Given the description of an element on the screen output the (x, y) to click on. 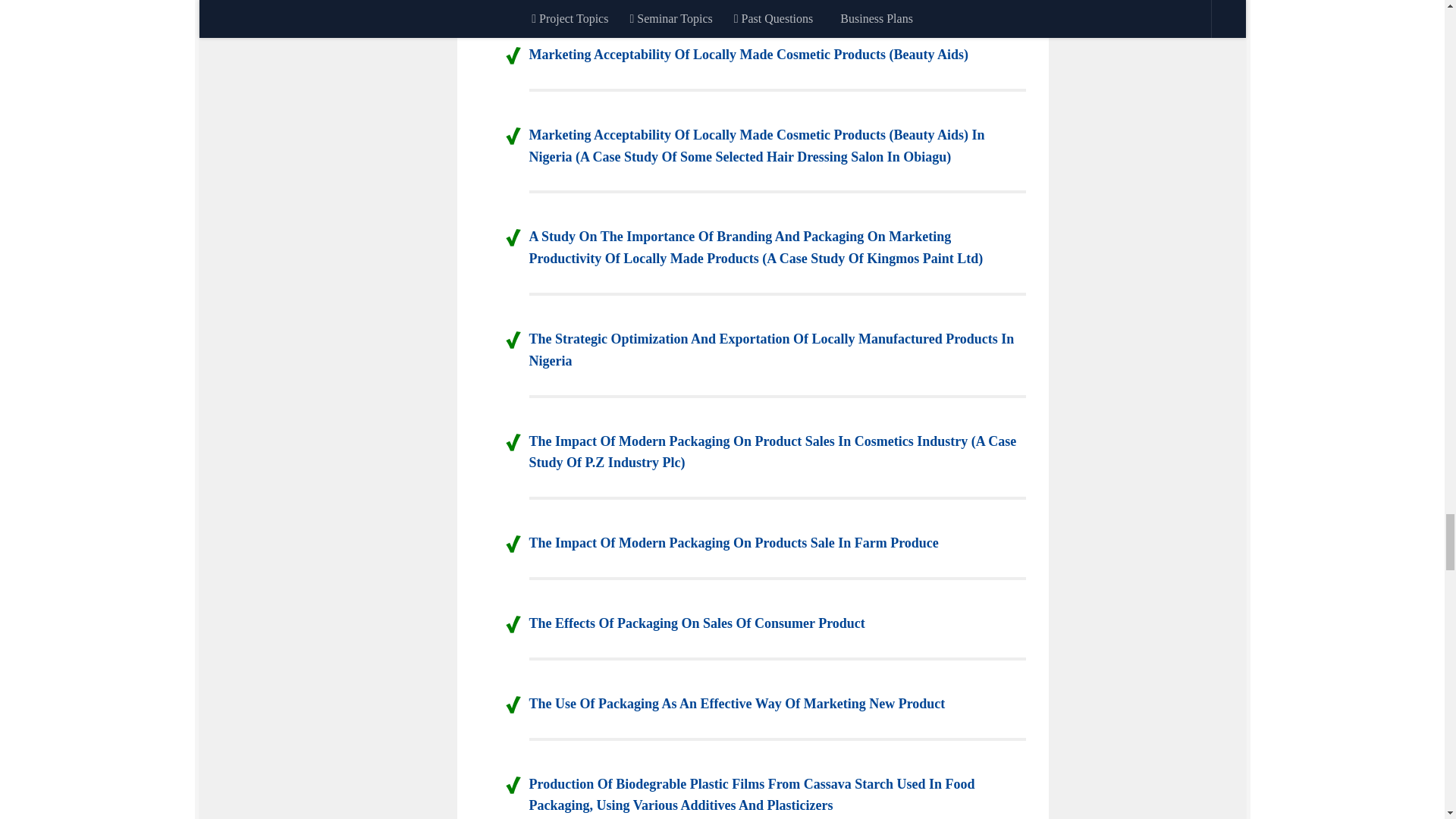
The Effects Of Packaging On Sales Of Consumer Product (696, 622)
